Given the description of an element on the screen output the (x, y) to click on. 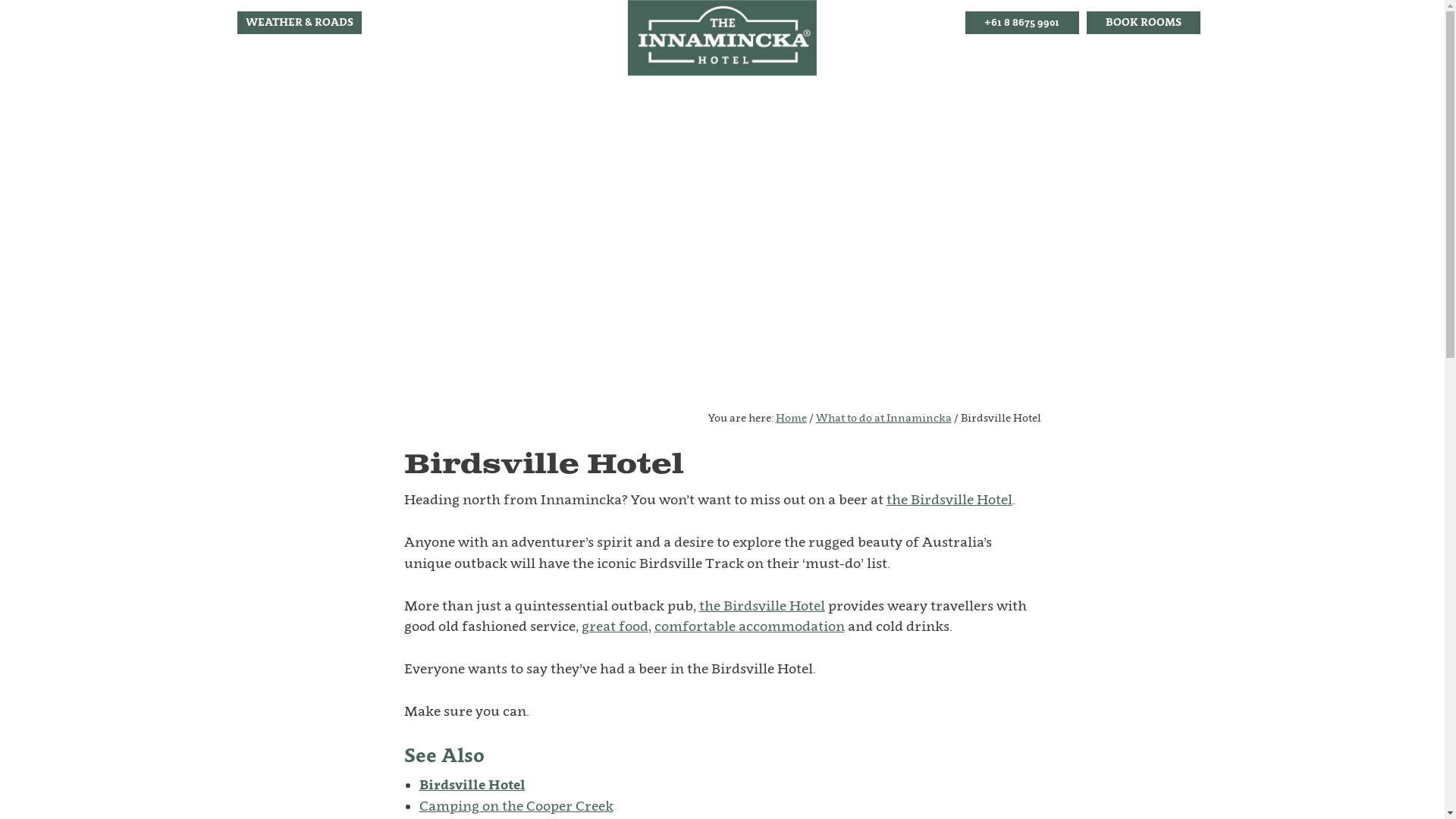
Search Element type: text (1207, 44)
the Birdsville Hotel Element type: text (948, 499)
+61 8 8675 9901 Element type: text (1021, 22)
Camping on the Cooper Creek Element type: text (515, 805)
CONTACT Element type: text (1166, 61)
WHAT TO DO Element type: text (949, 61)
TRAVEL INFO Element type: text (503, 61)
Innamincka Hotel Element type: text (721, 37)
HOME Element type: text (262, 61)
WEATHER & ROADS Element type: text (298, 22)
comfortable accommodation Element type: text (748, 625)
EAT & SLEEP Element type: text (405, 61)
Home Element type: text (790, 417)
the Birdsville Hotel Element type: text (762, 605)
What to do at Innamincka Element type: text (883, 417)
BOOK ROOMS Element type: text (1142, 22)
Skip to primary navigation Element type: text (0, 0)
ABOUT Element type: text (323, 61)
Birdsville Hotel Element type: text (471, 784)
EVENTS Element type: text (1037, 61)
NEWS Element type: text (1098, 61)
great food Element type: text (613, 625)
